Given the description of an element on the screen output the (x, y) to click on. 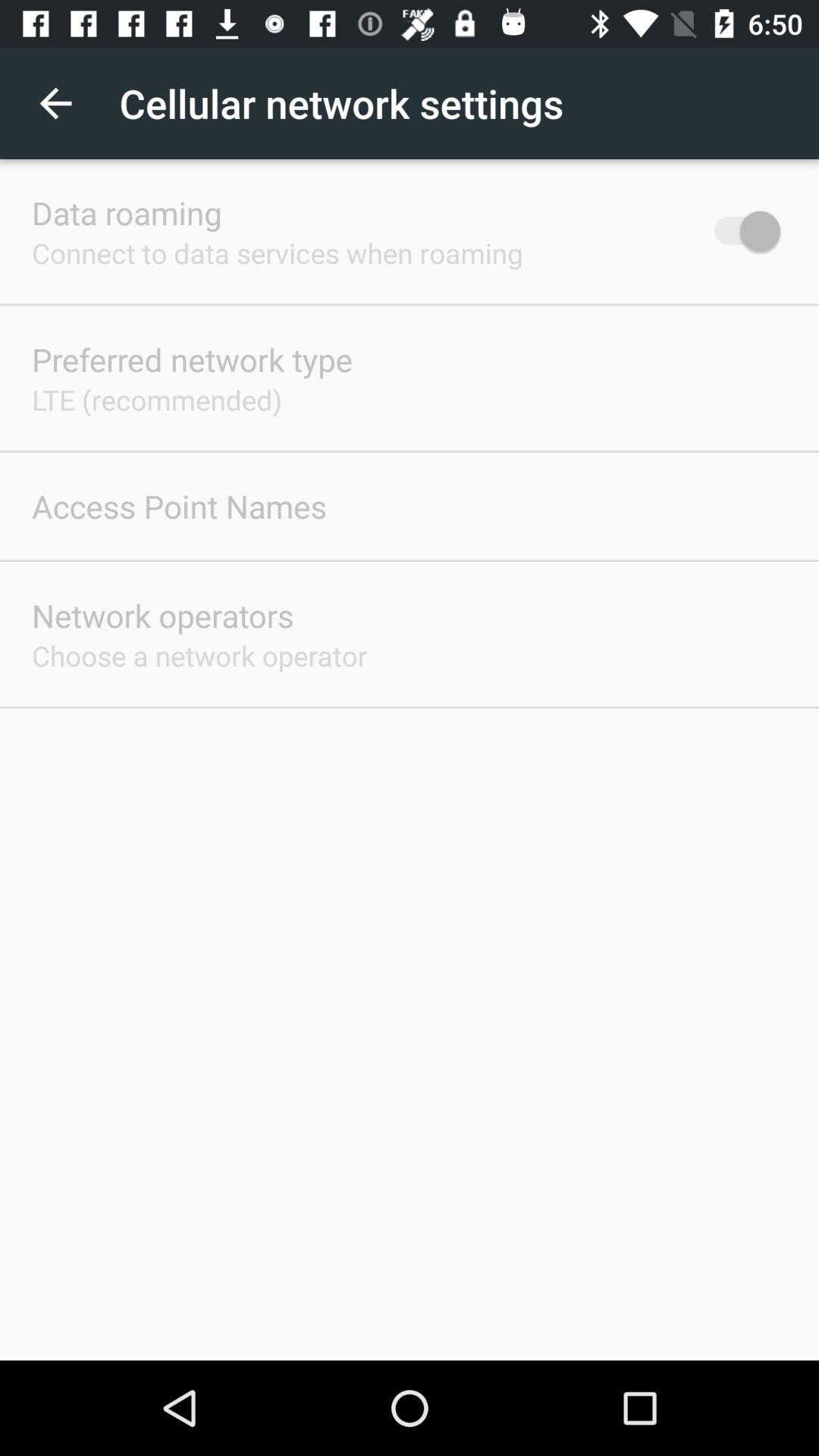
flip to connect to data icon (276, 252)
